Given the description of an element on the screen output the (x, y) to click on. 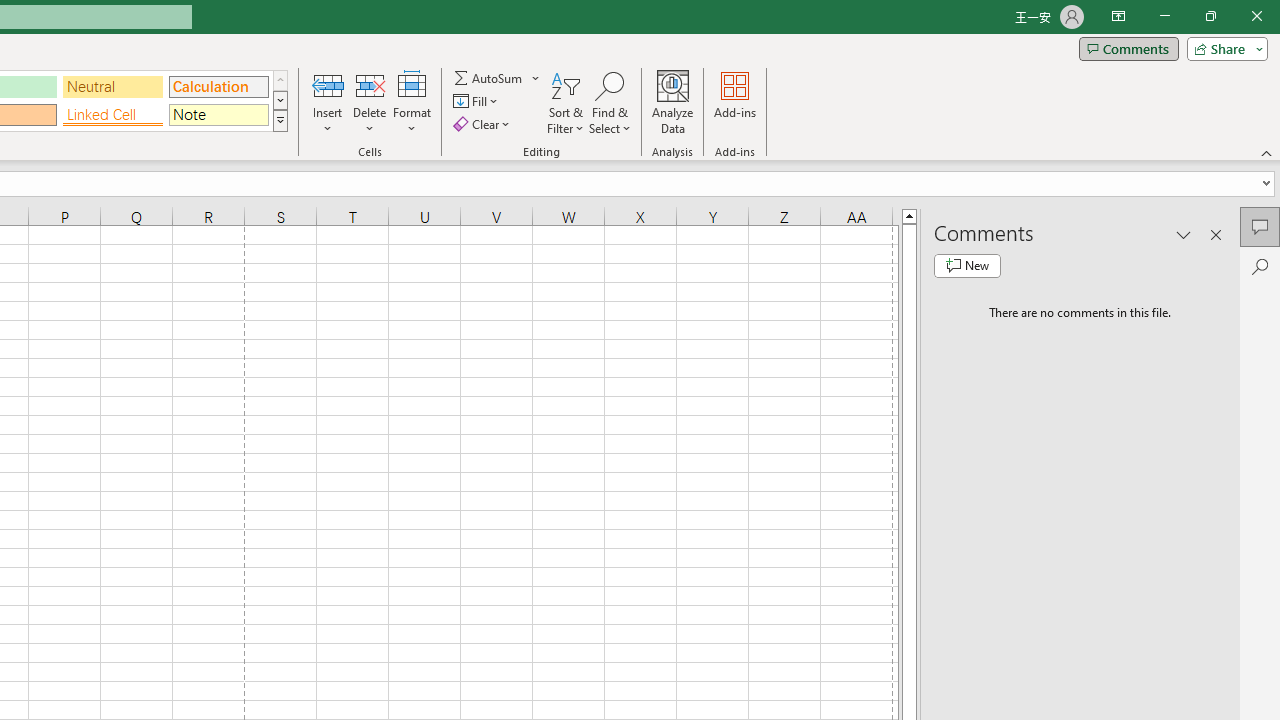
Row up (280, 79)
Calculation (218, 86)
Analyze Data (673, 102)
Class: NetUIImage (280, 120)
Sort & Filter (566, 102)
New comment (967, 265)
Cell Styles (280, 120)
Neutral (113, 86)
Clear (483, 124)
Delete Cells... (369, 84)
Row Down (280, 100)
